Given the description of an element on the screen output the (x, y) to click on. 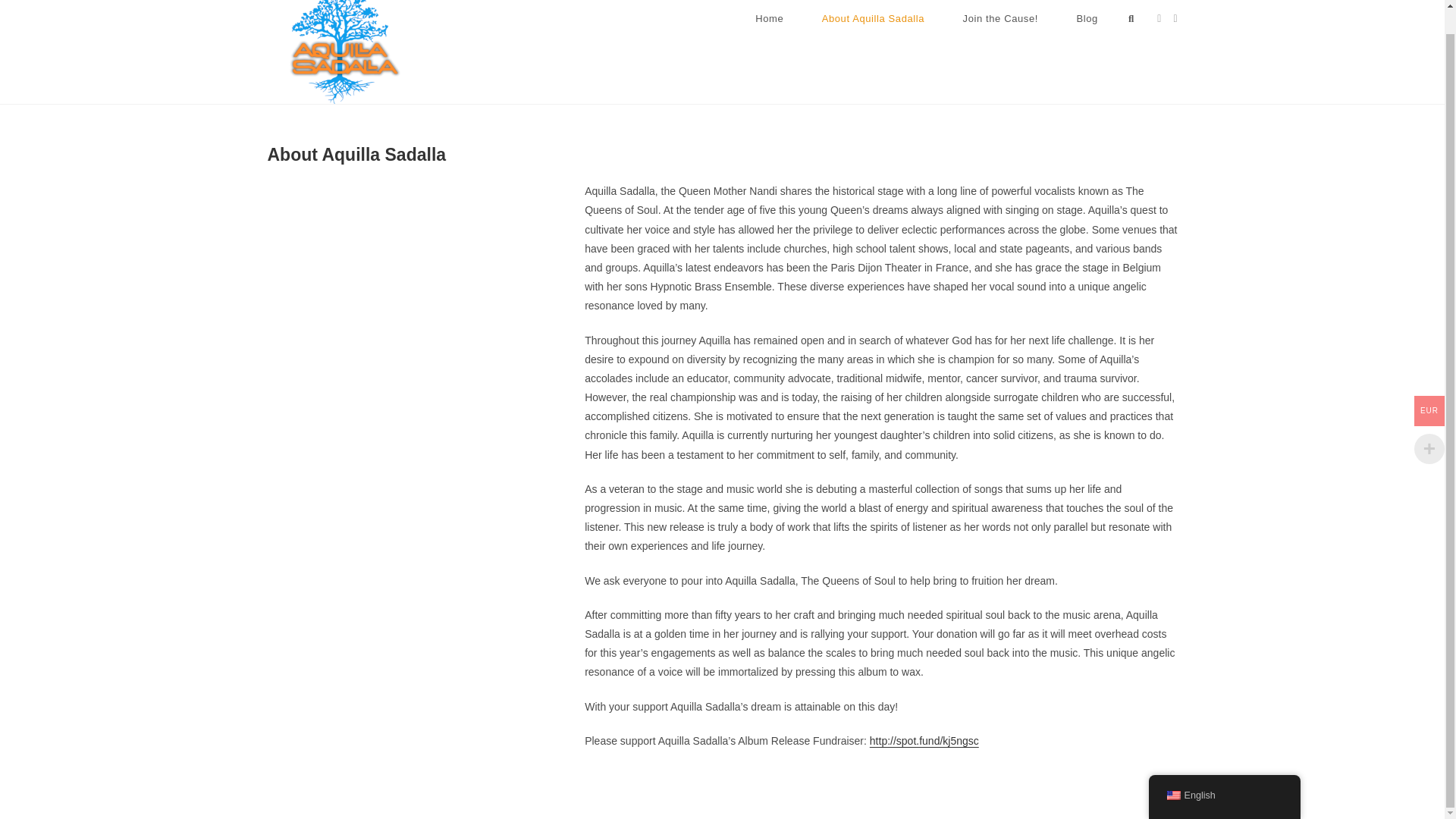
Home (769, 23)
English (1172, 770)
English (1224, 771)
About Aquilla Sadalla (1032, 777)
About Aquilla Sadalla (872, 23)
SUBMIT (616, 704)
Join the Cause! (1000, 23)
Home (967, 777)
Kraby Marketing (400, 777)
Blog (1086, 23)
Support Now! (418, 340)
Join the Cause! (1117, 777)
Blog (1167, 777)
